Given the description of an element on the screen output the (x, y) to click on. 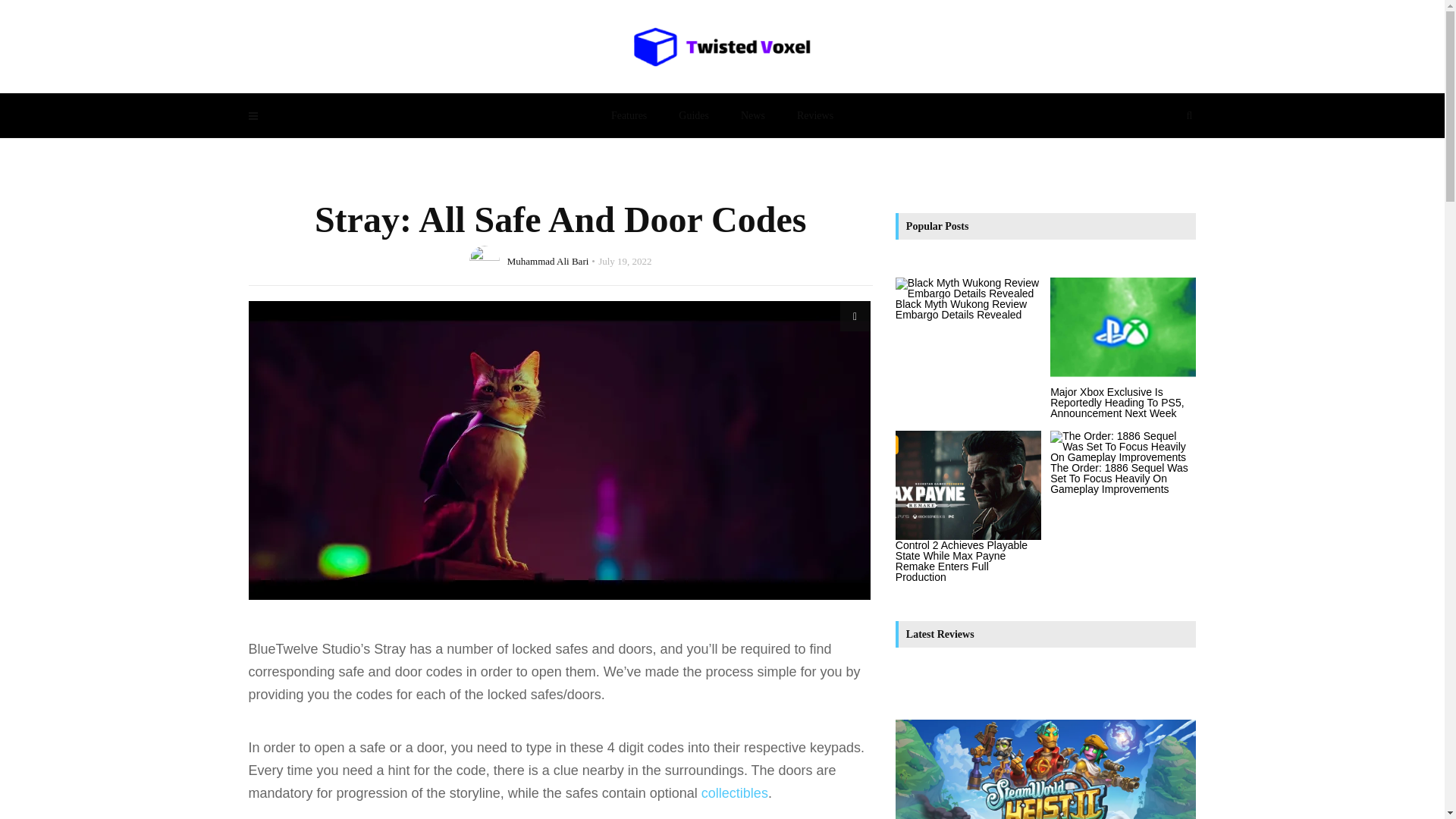
News (752, 115)
Features (628, 115)
collectibles (734, 792)
Guides (693, 115)
Reviews (814, 115)
Muhammad Ali Bari (547, 260)
